Given the description of an element on the screen output the (x, y) to click on. 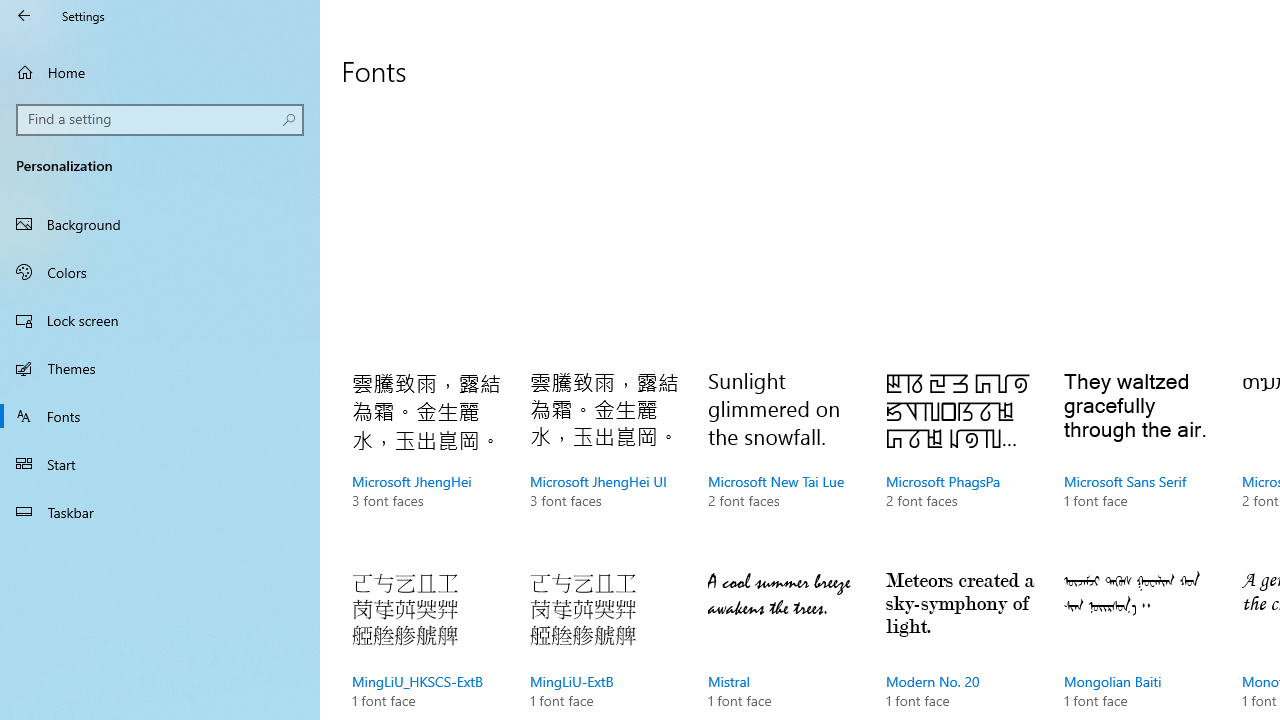
Themes (160, 367)
Microsoft PhagsPa, 2 font faces (961, 460)
Lock screen (160, 319)
Microsoft New Tai Lue, 2 font faces (783, 460)
Taskbar (160, 511)
Microsoft Sans Serif, 1 font face (1138, 460)
Fonts (160, 415)
Background (160, 223)
Microsoft JhengHei UI, 3 font faces (604, 460)
Microsoft JhengHei, 3 font faces (426, 460)
Colors (160, 271)
